Given the description of an element on the screen output the (x, y) to click on. 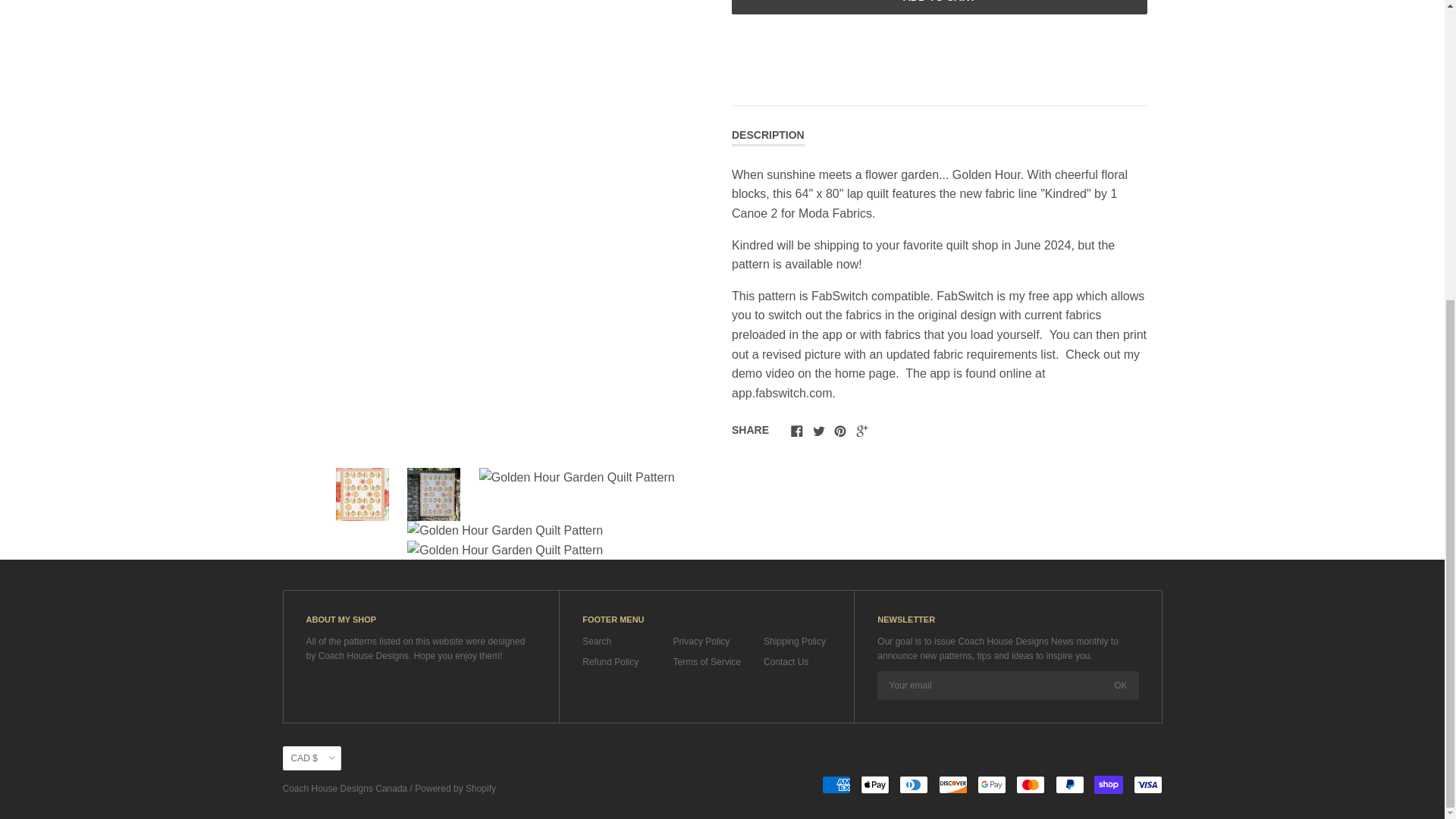
American Express (836, 784)
Discover (953, 784)
Google Pay (991, 784)
Diners Club (913, 784)
Visa (1146, 784)
PayPal (1069, 784)
Twitter (818, 430)
Shop Pay (1108, 784)
OK (1120, 685)
Mastercard (1030, 784)
Facebook (796, 430)
Apple Pay (874, 784)
Pinterest (839, 430)
